Given the description of an element on the screen output the (x, y) to click on. 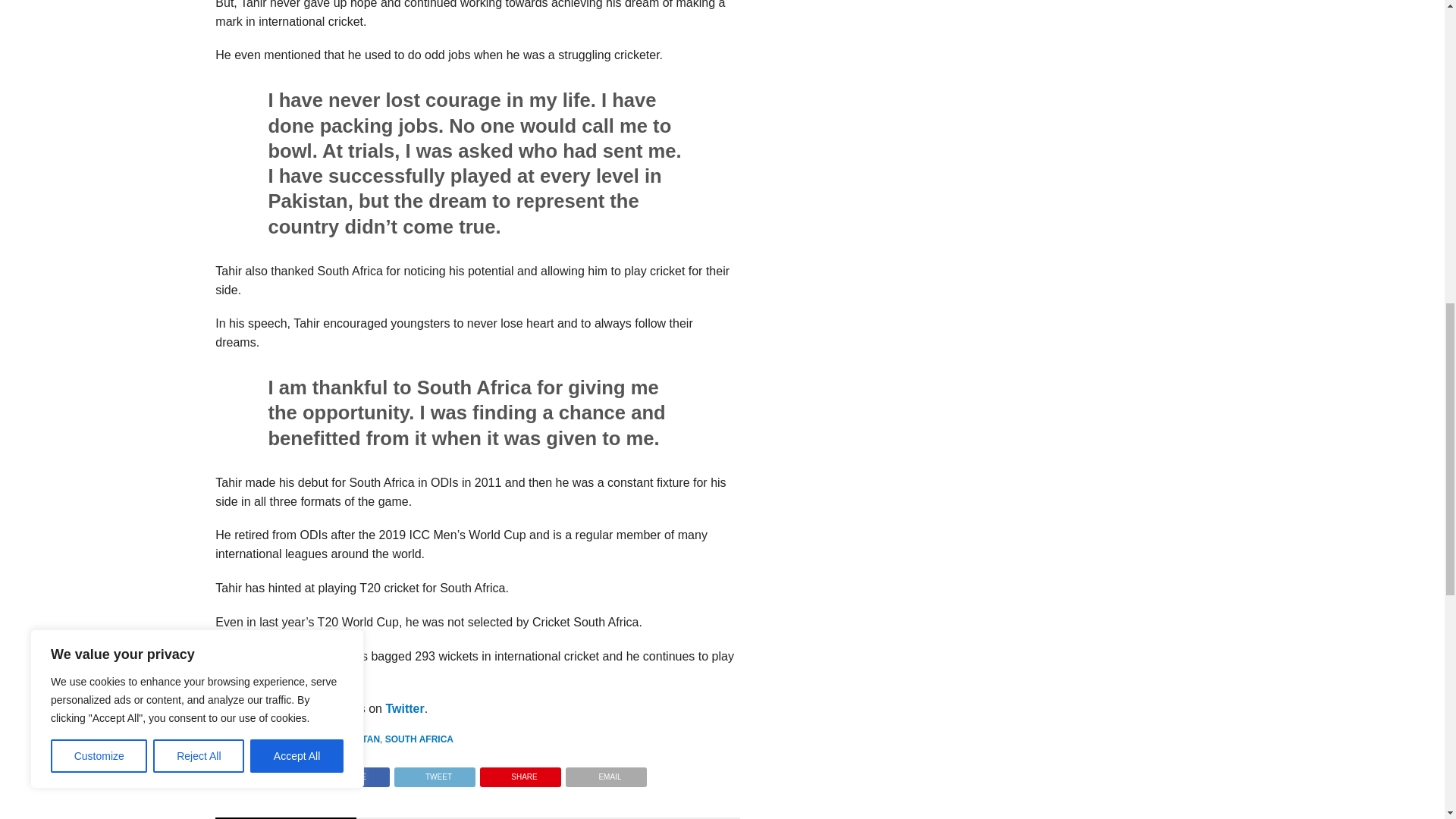
Share on Facebook (349, 772)
Tweet This Post (434, 772)
Pin This Post (520, 772)
